Given the description of an element on the screen output the (x, y) to click on. 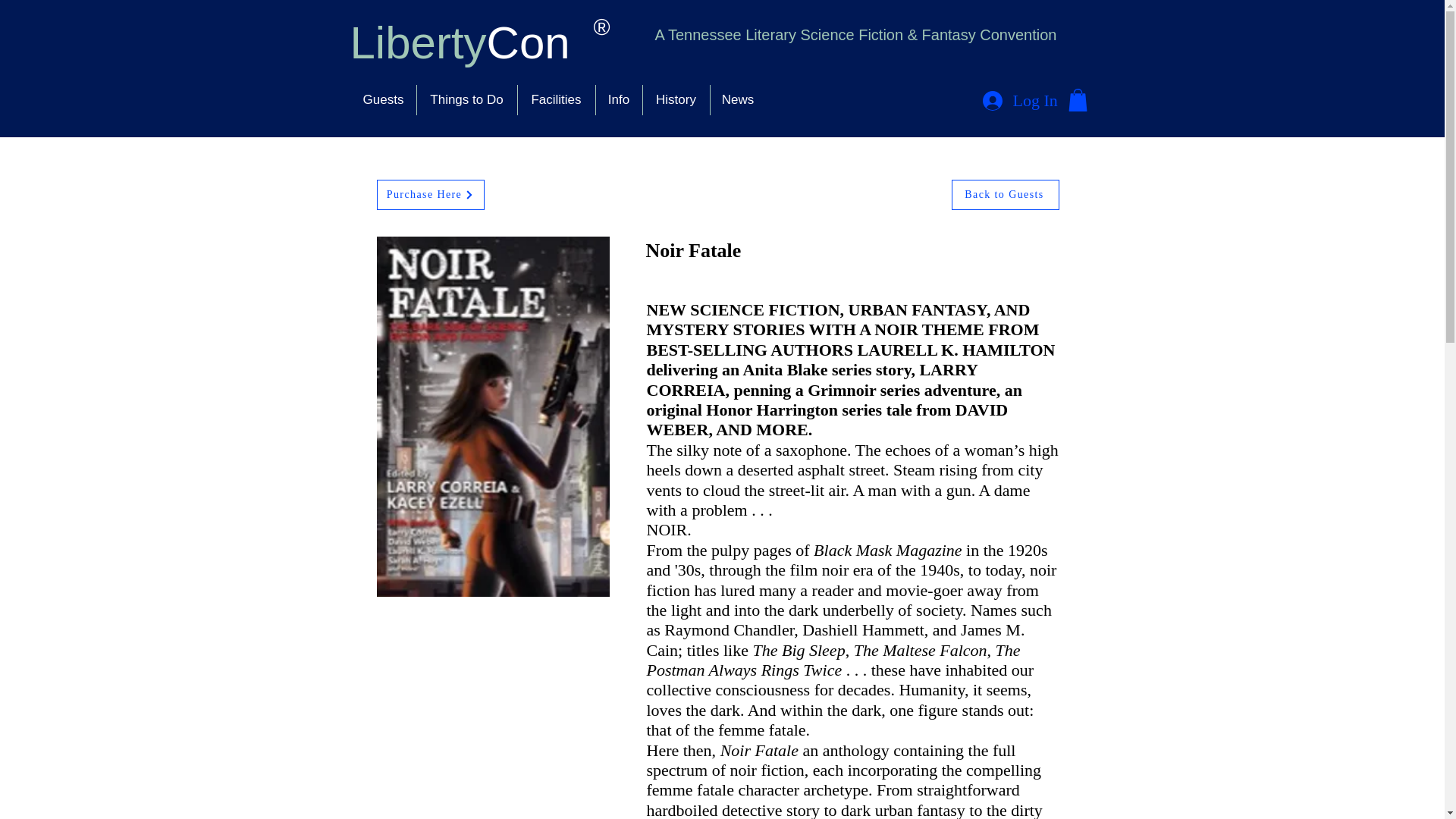
News (737, 100)
Back to Guests (1004, 194)
History (675, 100)
Purchase Here (429, 194)
Log In (1019, 100)
LibertyCon (460, 42)
